Given the description of an element on the screen output the (x, y) to click on. 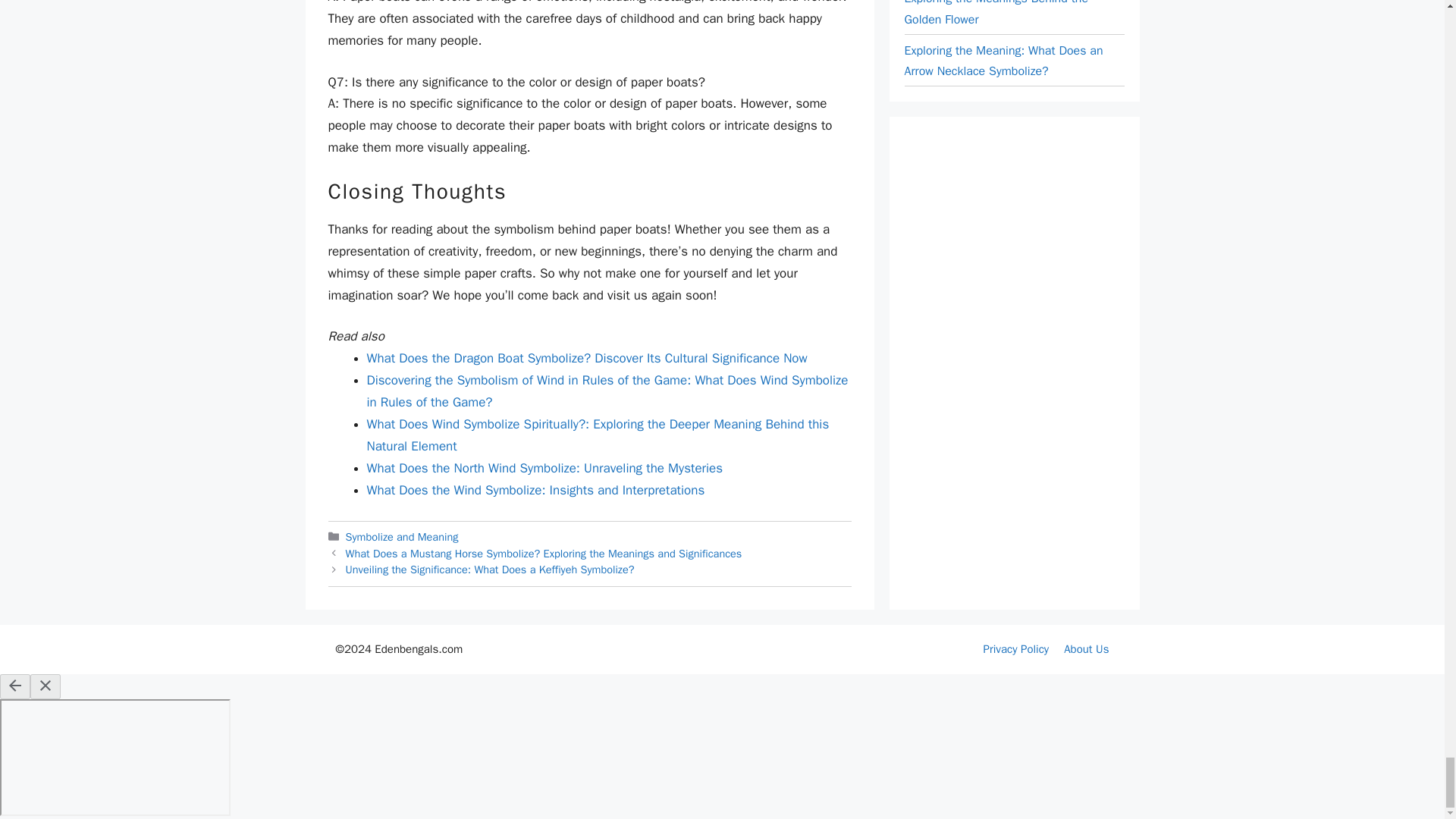
What Does the North Wind Symbolize: Unraveling the Mysteries (544, 467)
What Does the Wind Symbolize: Insights and Interpretations (535, 489)
Unveiling the Significance: What Does a Keffiyeh Symbolize? (490, 569)
Symbolize and Meaning (402, 536)
About Us (1086, 649)
Privacy Policy (1016, 649)
